Given the description of an element on the screen output the (x, y) to click on. 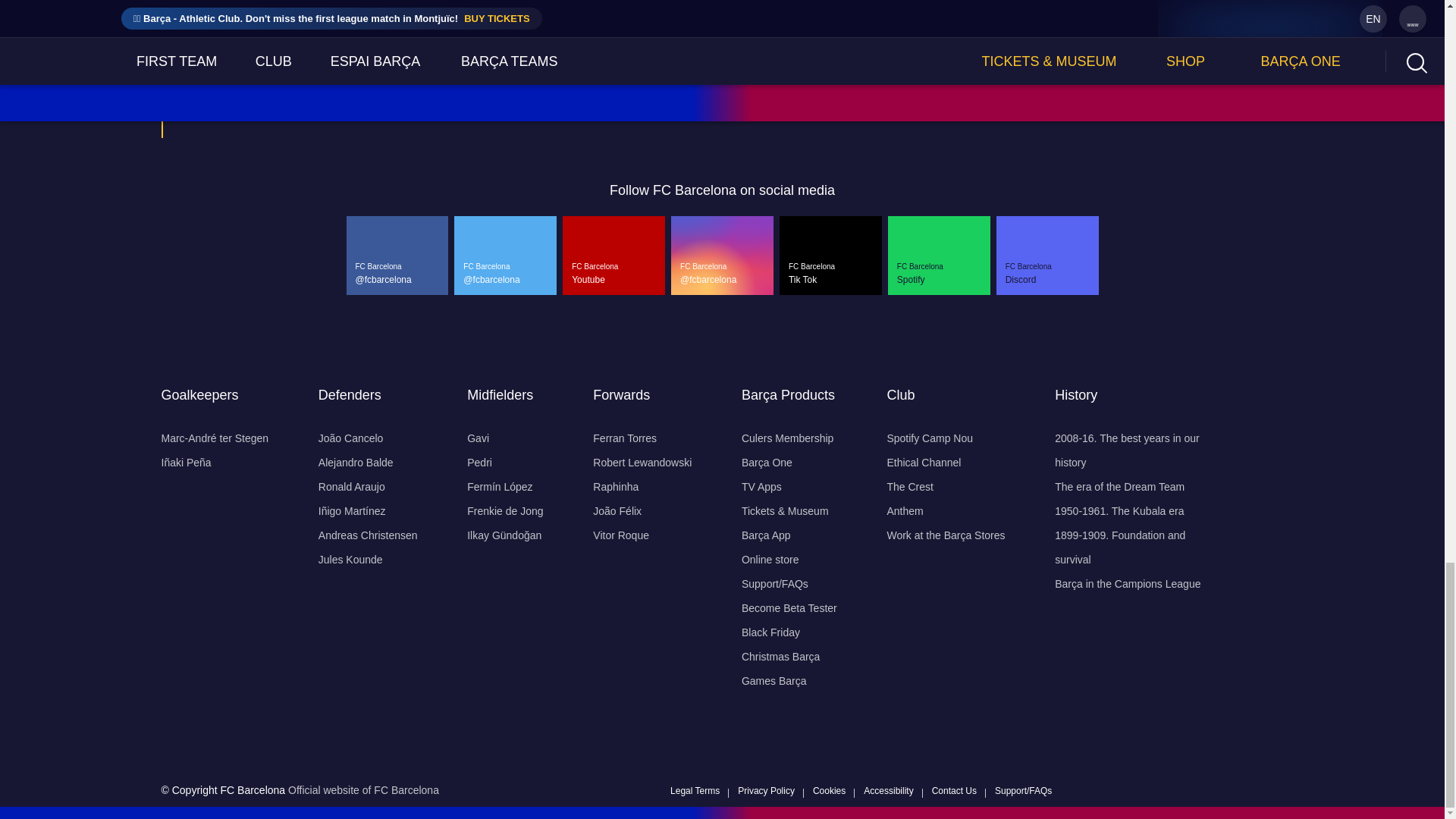
Go visit Spotify (705, 95)
Go visit Nike (344, 95)
Go visit Ambilight (1082, 95)
